Given the description of an element on the screen output the (x, y) to click on. 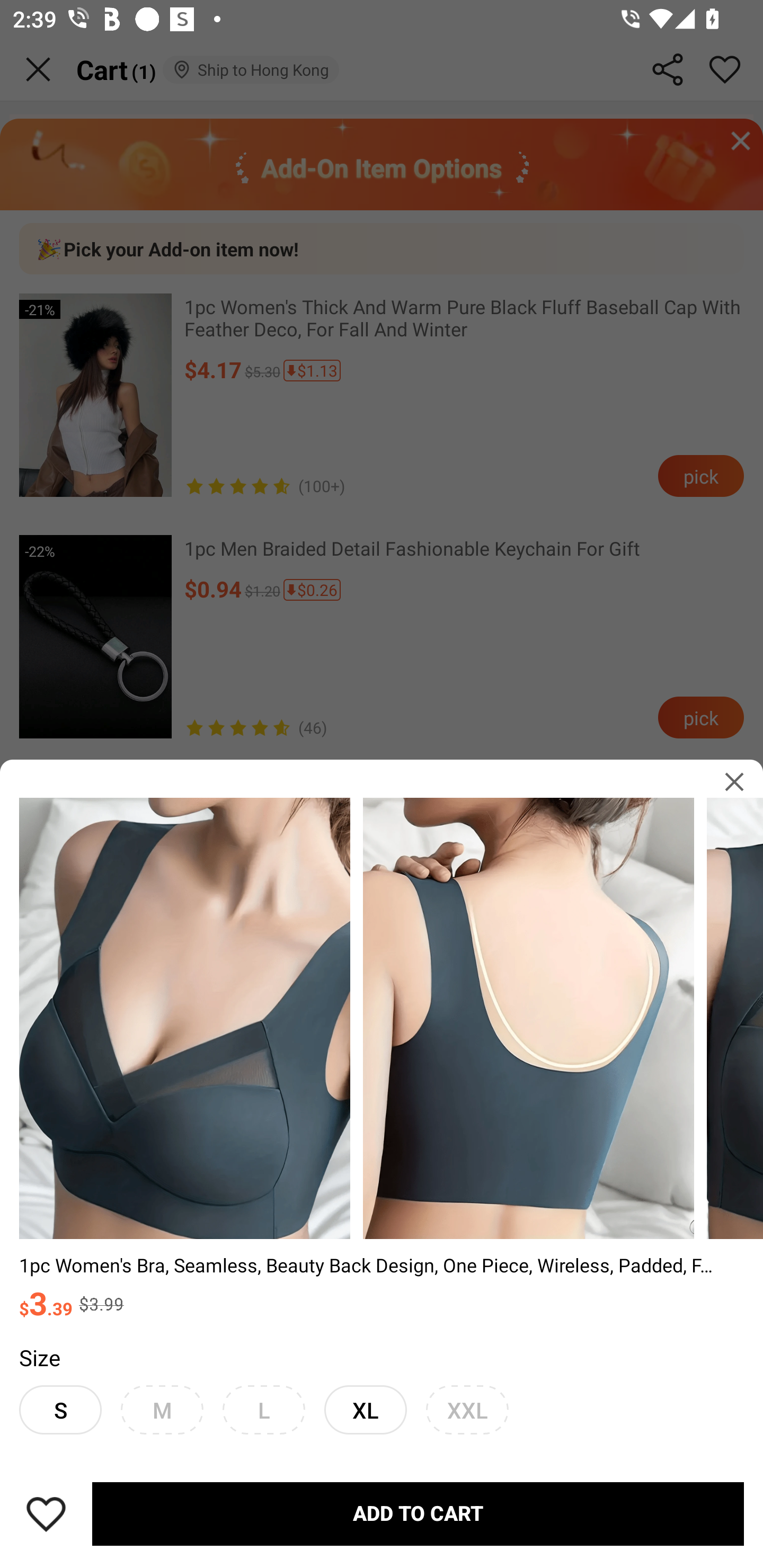
Size (39, 1357)
S Sunselected option (60, 1409)
M (161, 1409)
L (263, 1409)
XL XLunselected option (365, 1409)
XXL (466, 1409)
ADD TO CART (417, 1513)
Save (46, 1513)
